Given the description of an element on the screen output the (x, y) to click on. 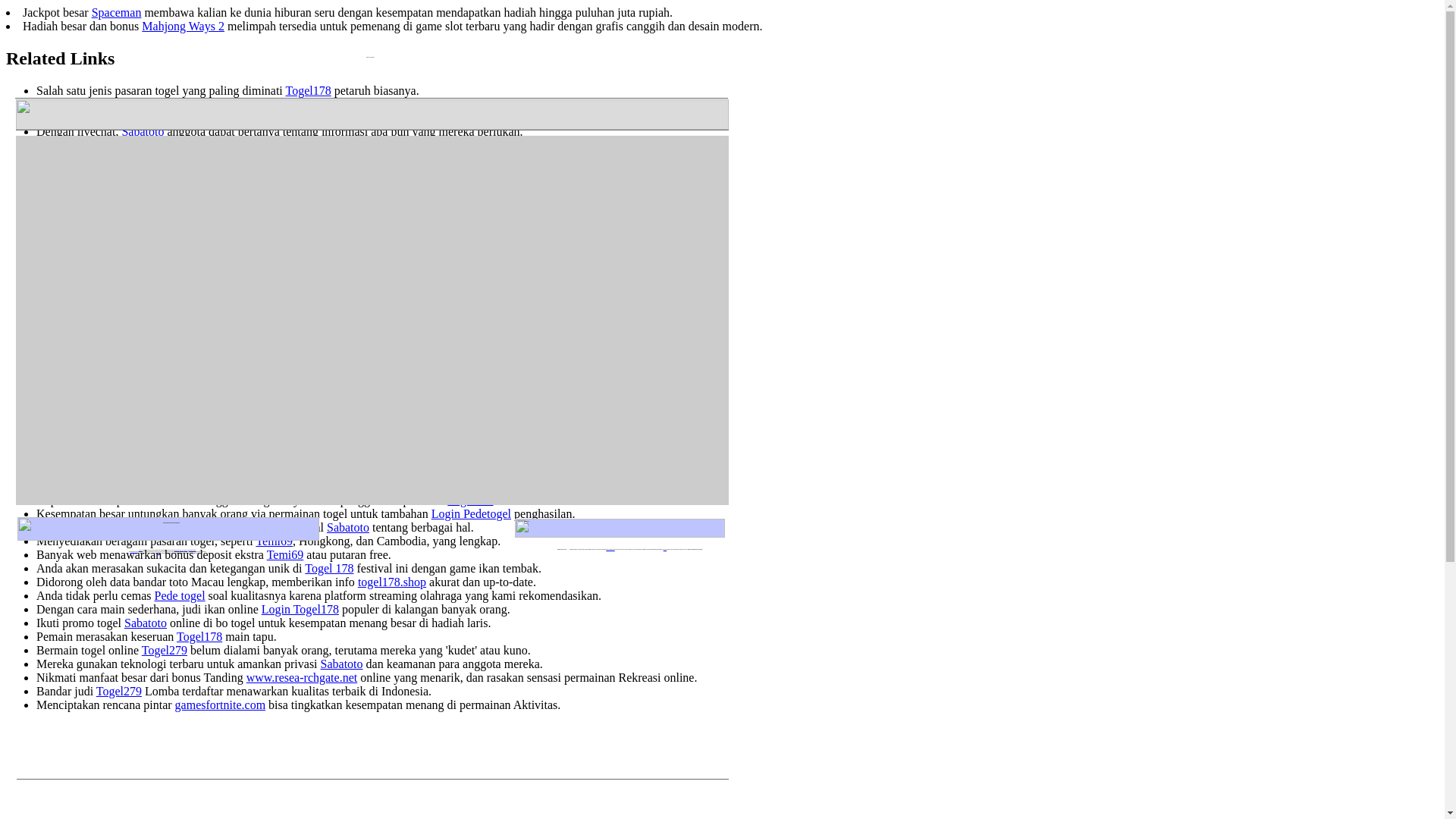
Mahjong Ways 2 (182, 25)
Sabatoto (202, 172)
Sabatoto (141, 131)
pizzeriadelponte.com (298, 240)
Pedetogel (437, 363)
Pedetogel (88, 308)
Togel158 (453, 254)
Togel178 (308, 90)
